Given the description of an element on the screen output the (x, y) to click on. 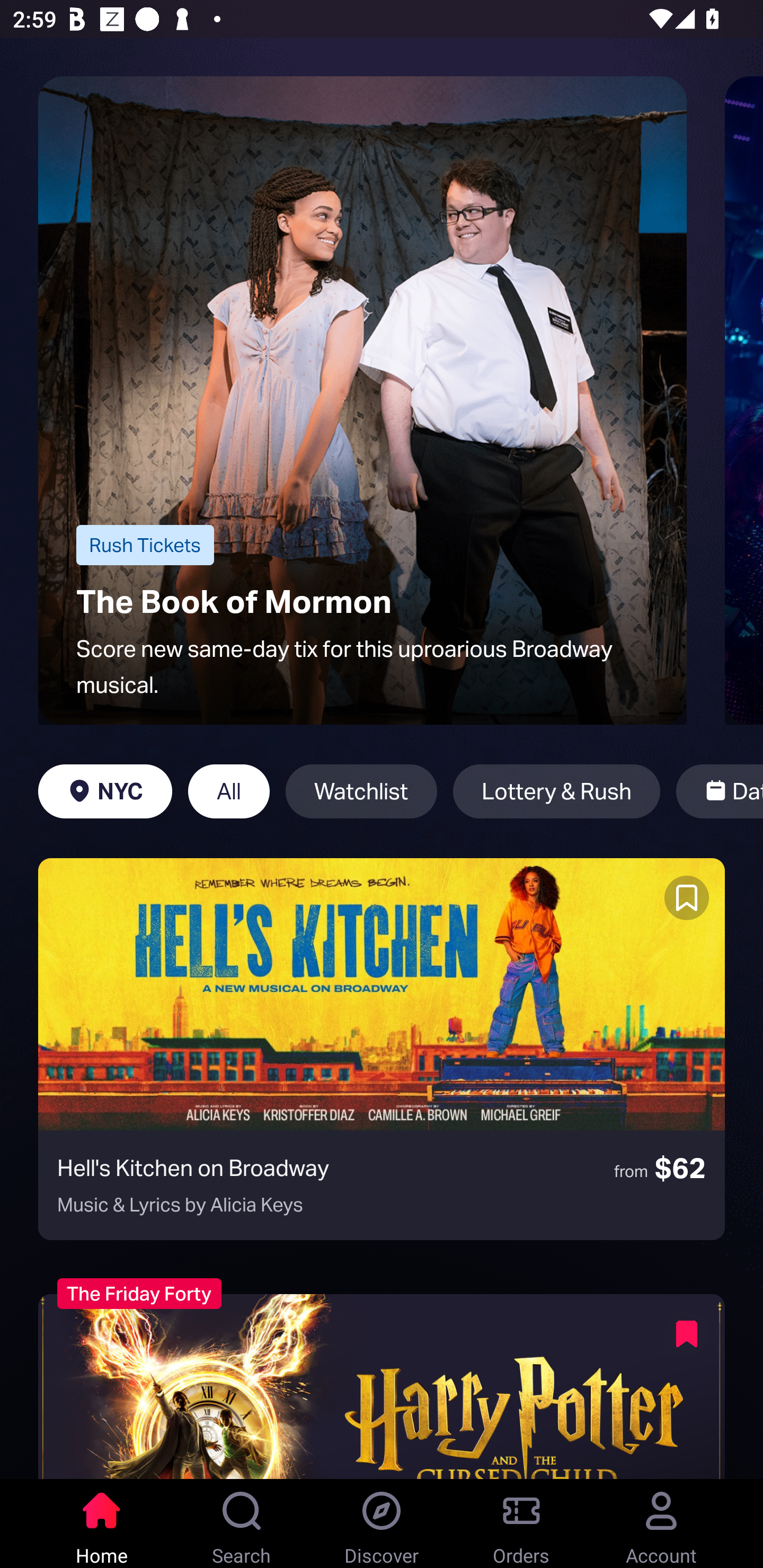
NYC (105, 791)
All (228, 791)
Watchlist (361, 791)
Lottery & Rush (556, 791)
Search (241, 1523)
Discover (381, 1523)
Orders (521, 1523)
Account (660, 1523)
